Given the description of an element on the screen output the (x, y) to click on. 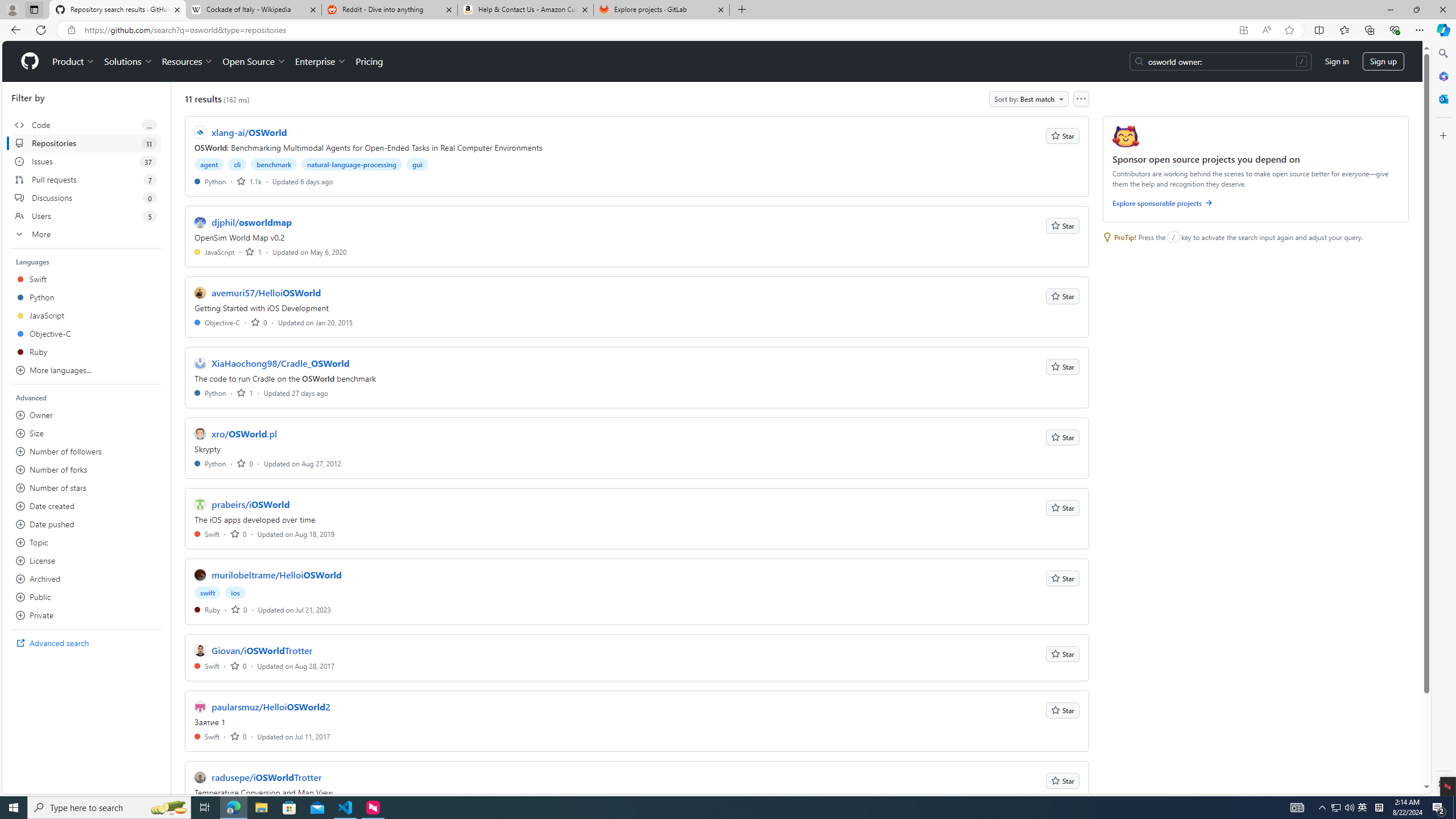
Sign up (1382, 61)
Open column options (1081, 98)
1 stars (244, 392)
Objective-C (217, 321)
prabeirs/iOSWorld (250, 504)
Ruby (207, 609)
